Given the description of an element on the screen output the (x, y) to click on. 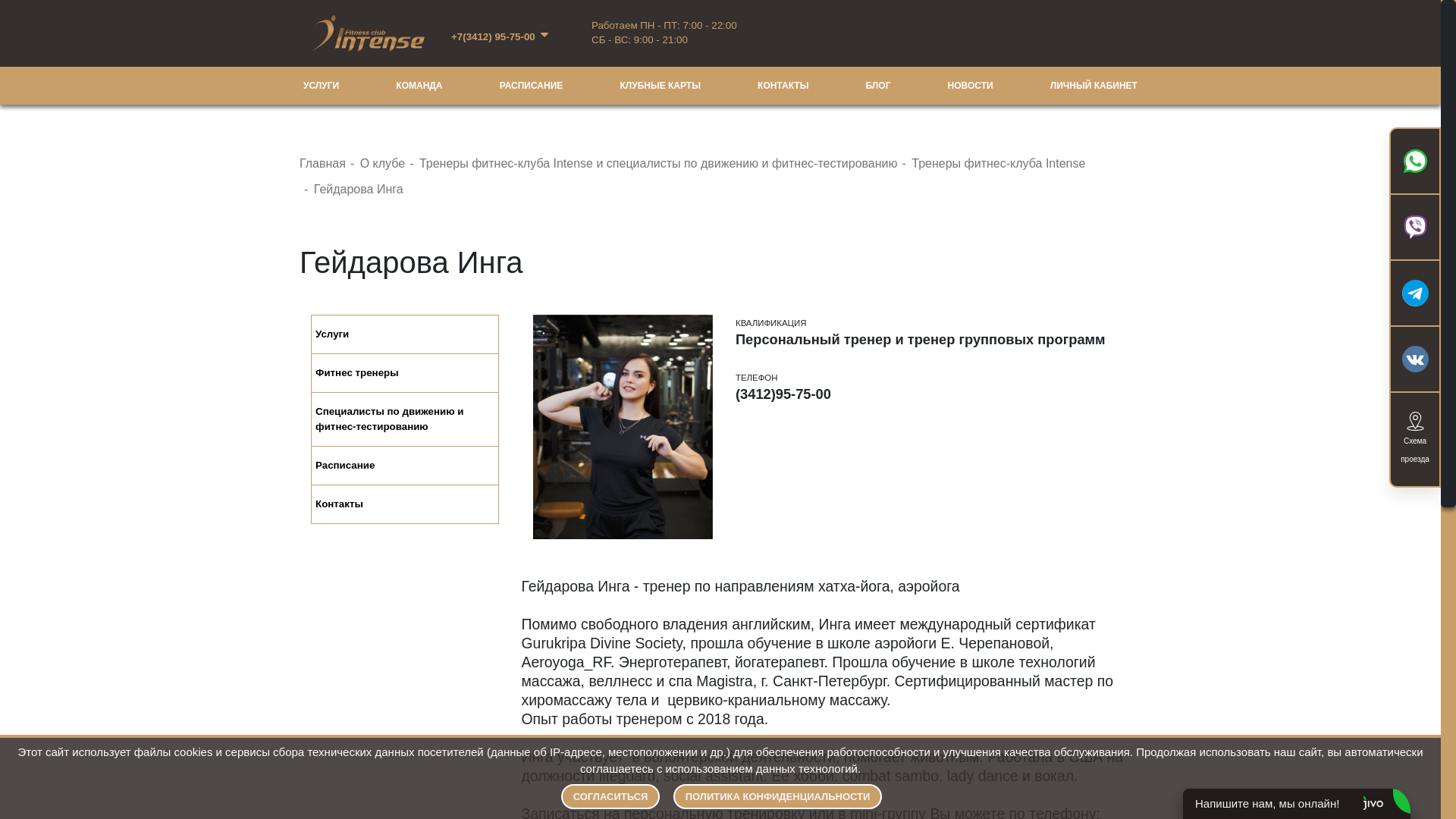
Whatsapp Element type: hover (1414, 159)
VK Element type: hover (1414, 357)
Viber Element type: hover (1414, 225)
telegram Element type: hover (1414, 291)
+7(3412) 95-75-00 Element type: text (493, 35)
